Given the description of an element on the screen output the (x, y) to click on. 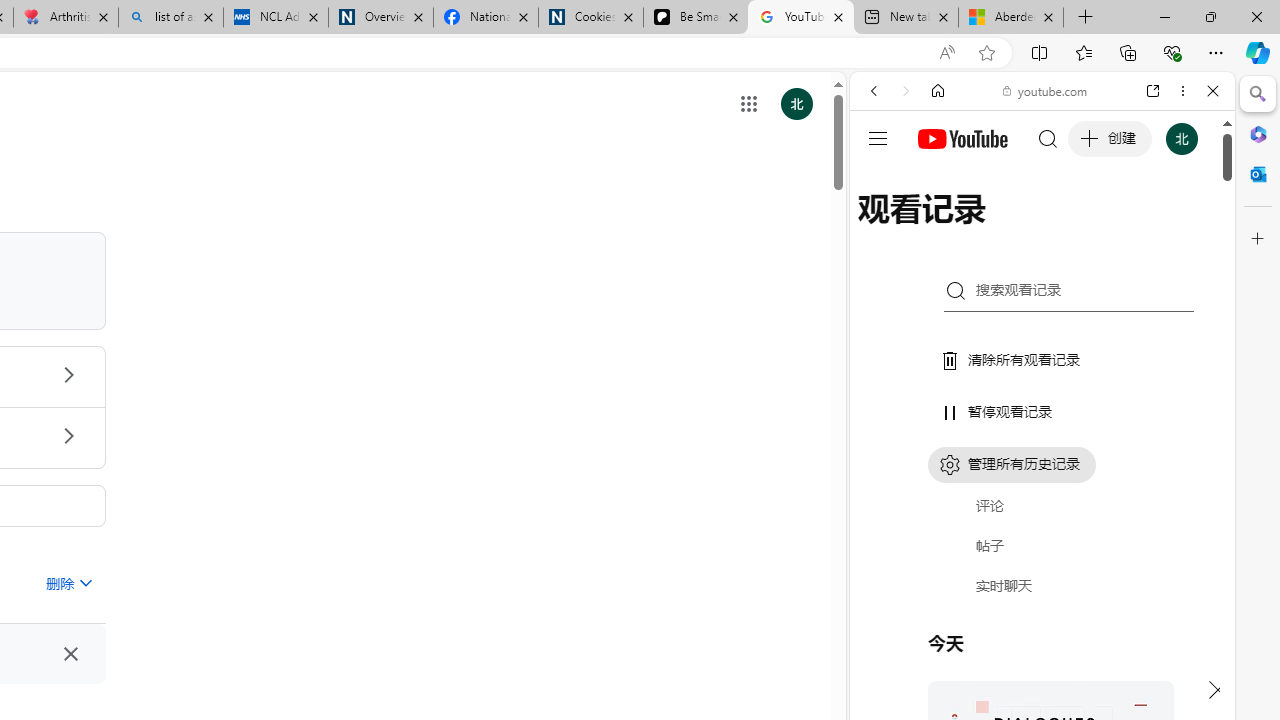
Aberdeen, Hong Kong SAR hourly forecast | Microsoft Weather (1010, 17)
WEB   (882, 228)
youtube.com (1046, 90)
Search videos from youtube.com (1005, 657)
Class: DI7Mnf NMm5M (70, 654)
SEARCH TOOLS (1093, 228)
Trailer #2 [HD] (1042, 592)
NCL Adult Asthma Inhaler Choice Guideline (275, 17)
Search Filter, VIDEOS (1006, 228)
Google (1042, 494)
